Given the description of an element on the screen output the (x, y) to click on. 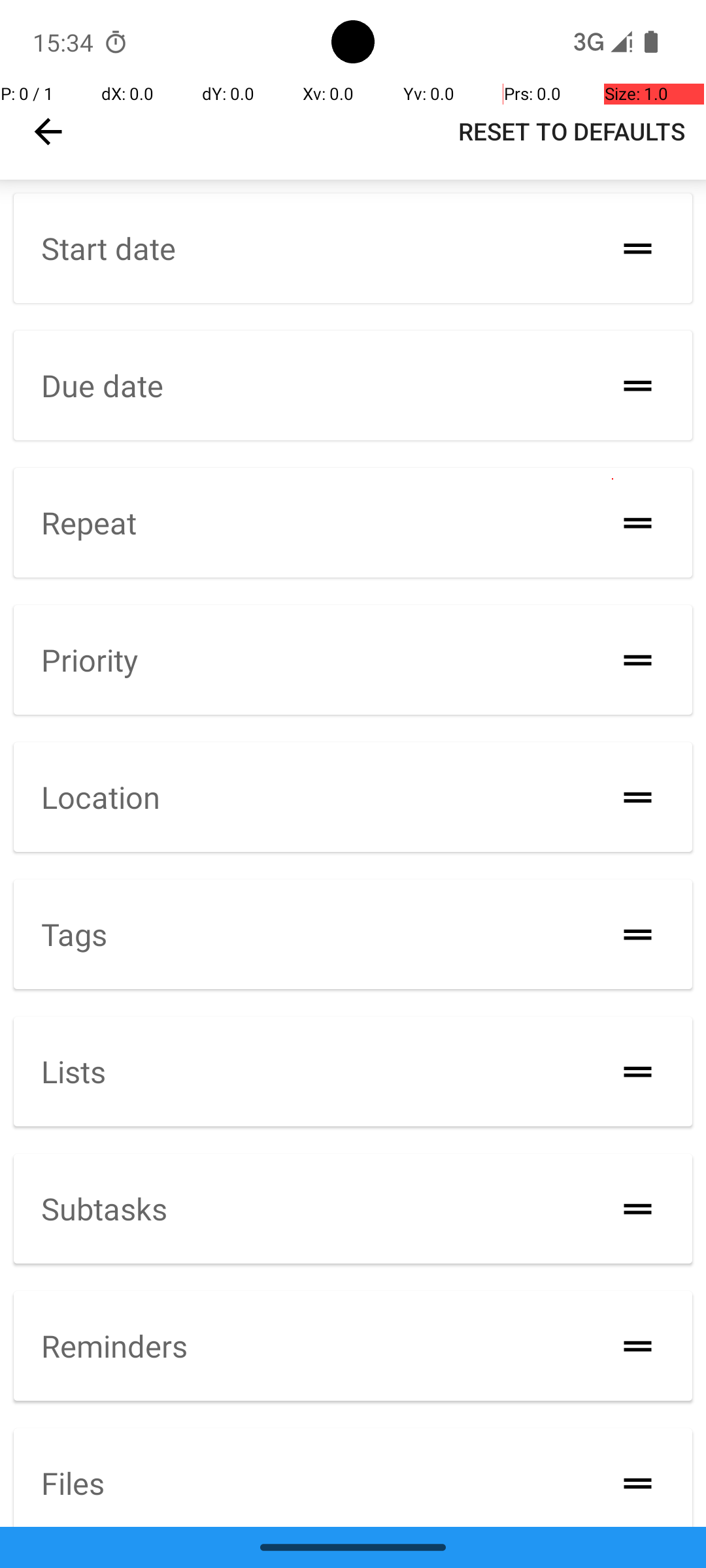
RESET TO DEFAULTS Element type: android.widget.Button (571, 131)
Start date Element type: android.widget.TextView (108, 247)
Lists Element type: android.widget.TextView (73, 1070)
Reminders Element type: android.widget.TextView (114, 1345)
